Given the description of an element on the screen output the (x, y) to click on. 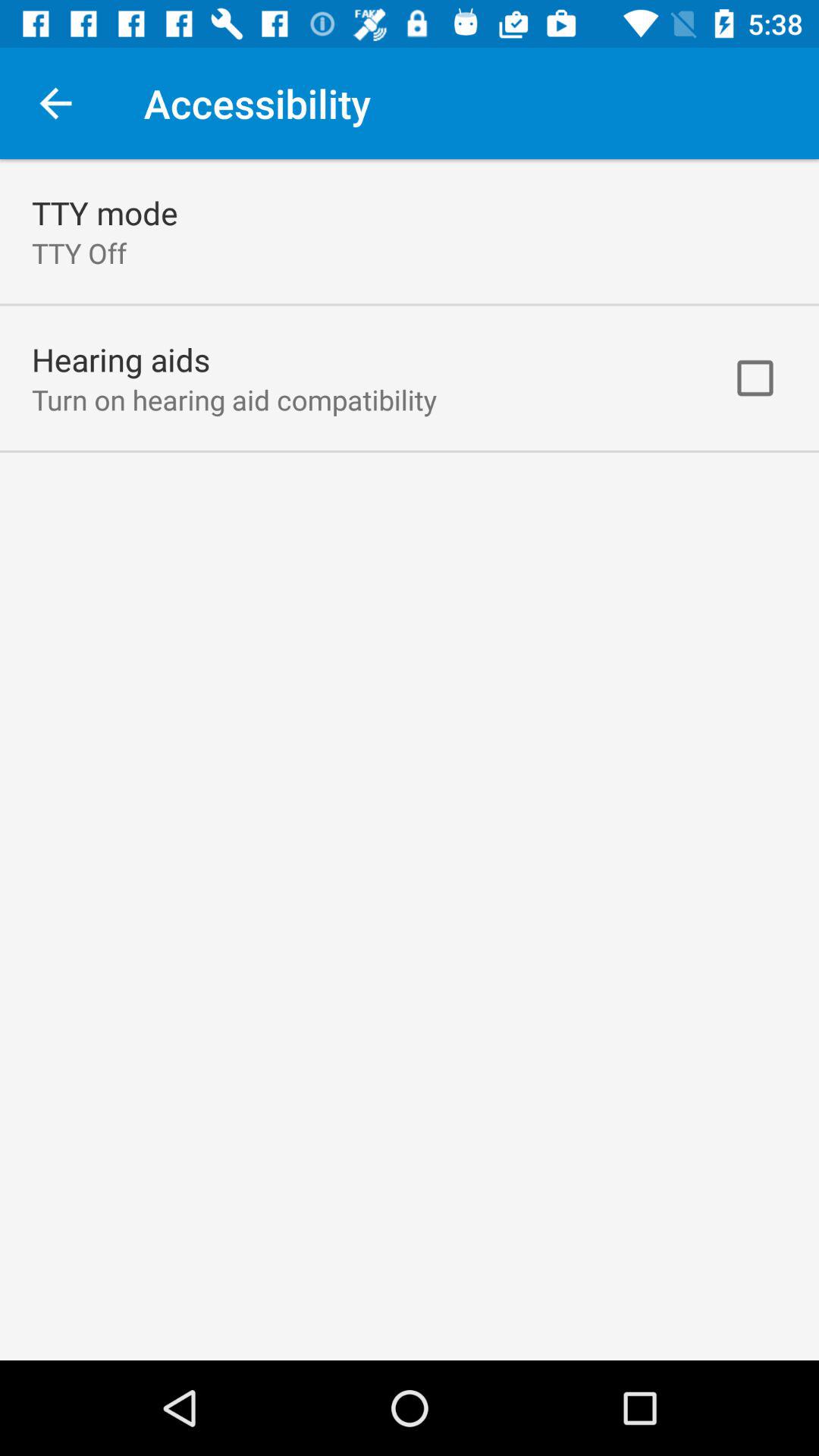
turn on the item above the hearing aids app (78, 252)
